Given the description of an element on the screen output the (x, y) to click on. 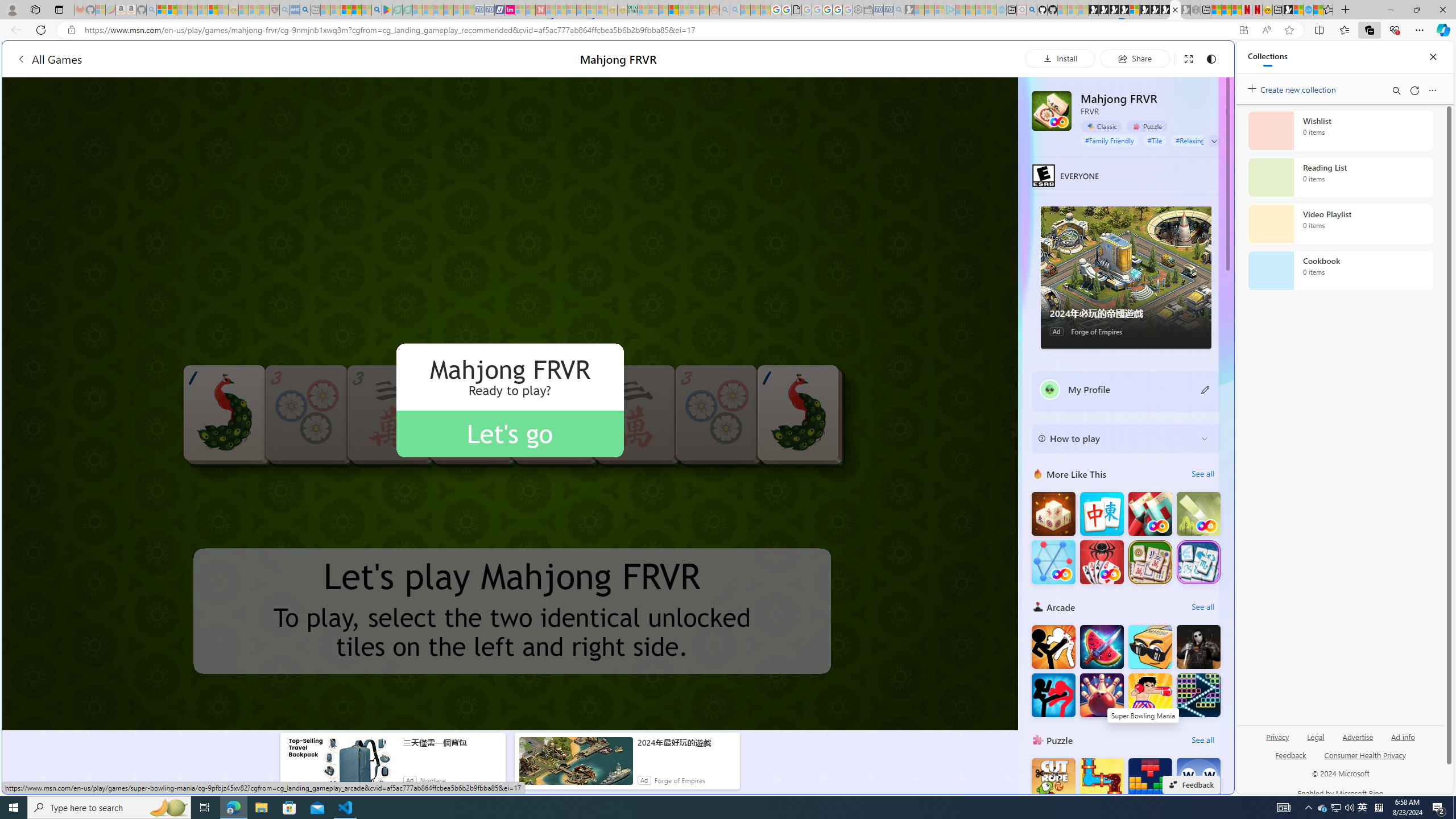
Share (1134, 58)
Mahjong FRVR (1051, 110)
Words of Wonders (1198, 779)
Nonogram FRVR (1149, 513)
""'s avatar (1049, 389)
See all (1202, 739)
